Given the description of an element on the screen output the (x, y) to click on. 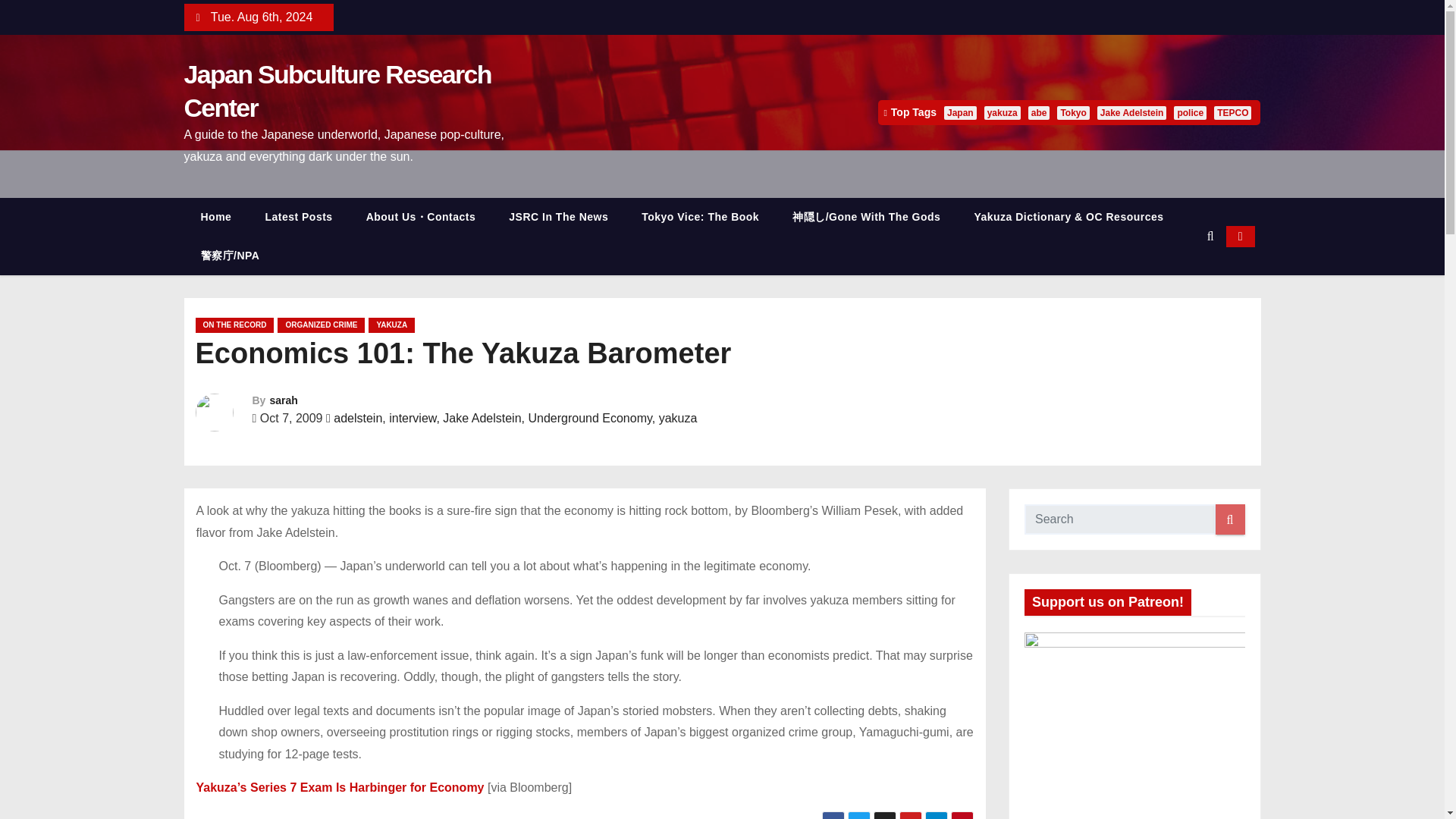
Latest Posts (298, 217)
Jake Adelstein (1132, 112)
police (1190, 112)
ON THE RECORD (235, 324)
YAKUZA (391, 324)
ORGANIZED CRIME (321, 324)
Tokyo Vice: The Book (700, 217)
Tokyo (1073, 112)
Japan (959, 112)
Home (215, 217)
